Given the description of an element on the screen output the (x, y) to click on. 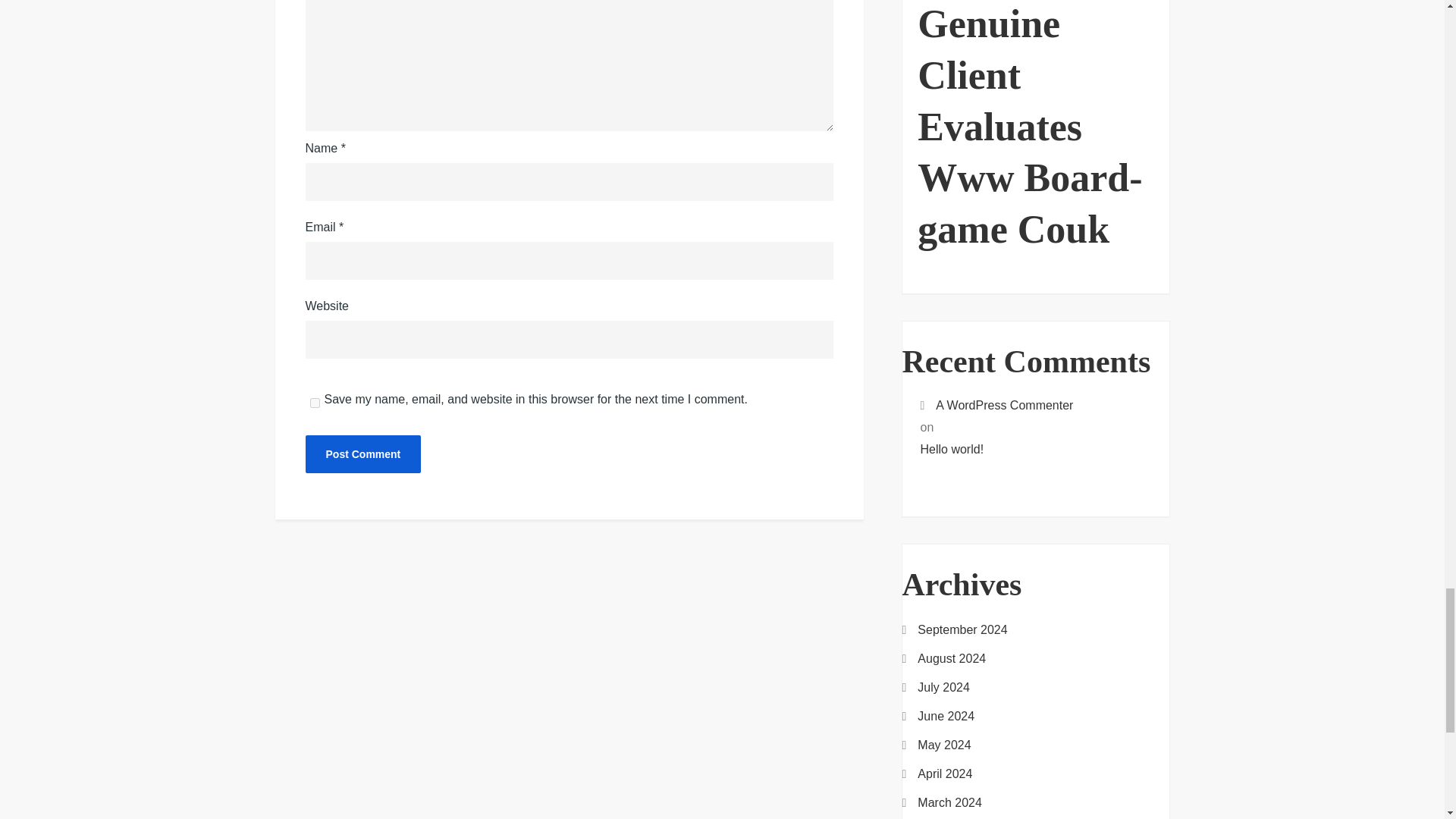
yes (313, 402)
Post Comment (362, 453)
Post Comment (362, 453)
